Given the description of an element on the screen output the (x, y) to click on. 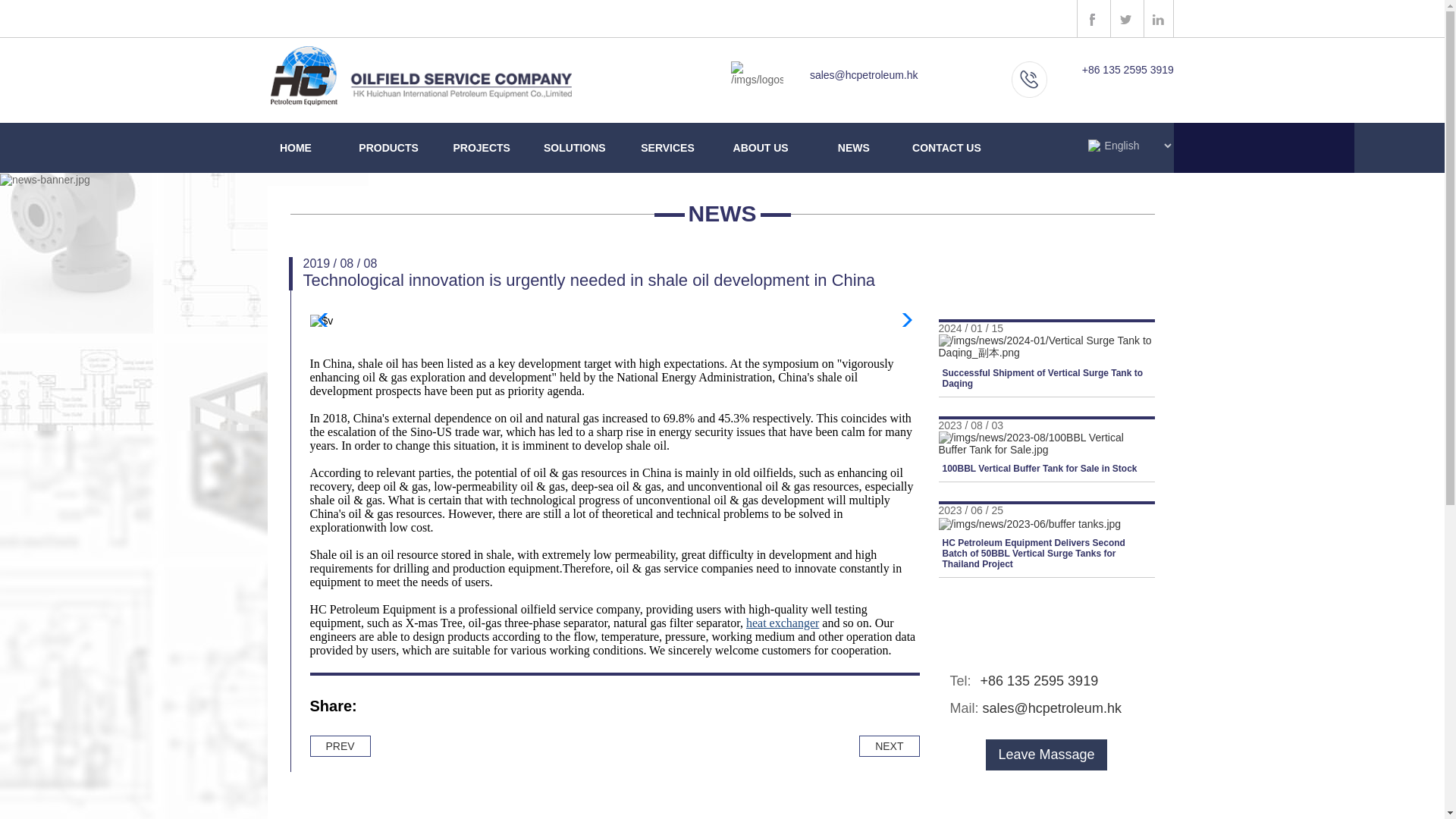
PROJECTS (481, 142)
SOLUTIONS (574, 142)
100BBL Vertical Buffer Tank for Sale in Stock (1046, 456)
CONTACT US (945, 142)
Successful Shipment of Vertical Surge Tank to Daqing (1046, 365)
NEXT (888, 745)
ABOUT US (761, 142)
Twitter (410, 709)
Leave Massage (1045, 754)
PRODUCTS (388, 142)
Facebook (377, 709)
SERVICES (667, 142)
PREV (338, 745)
NEWS (852, 142)
